Given the description of an element on the screen output the (x, y) to click on. 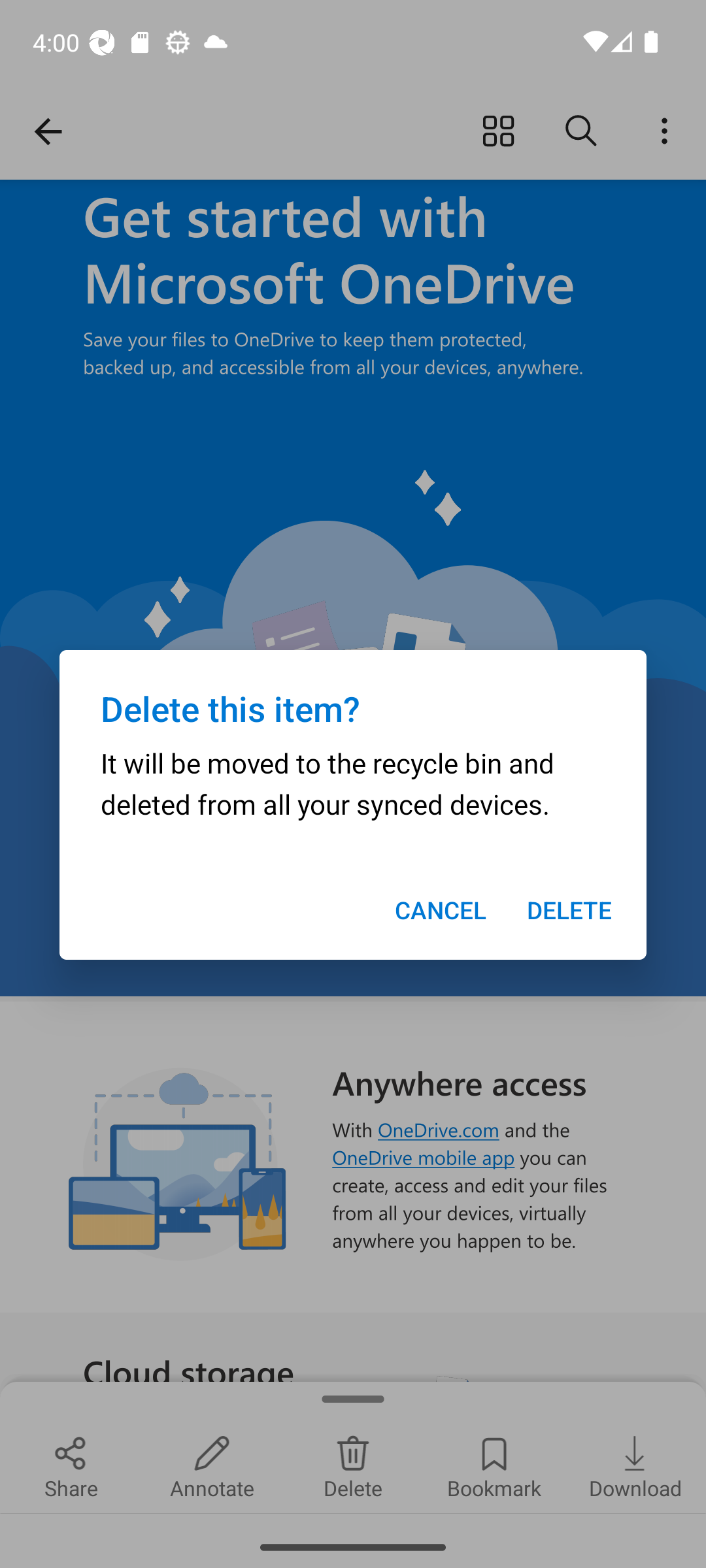
CANCEL (440, 909)
DELETE (569, 909)
